Given the description of an element on the screen output the (x, y) to click on. 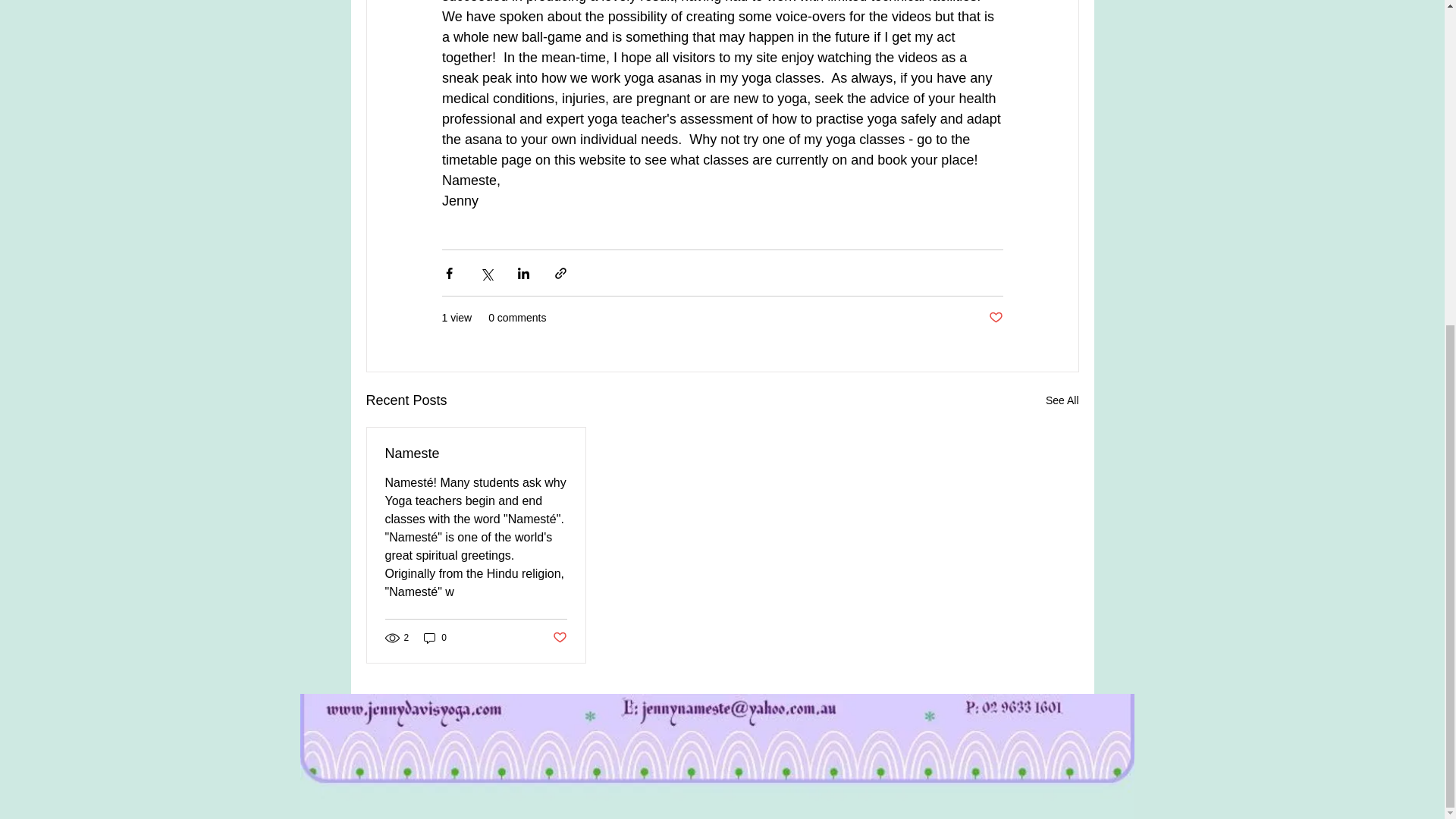
Post not marked as liked (558, 637)
Post not marked as liked (995, 317)
0 (435, 637)
See All (1061, 400)
Nameste (476, 453)
